Given the description of an element on the screen output the (x, y) to click on. 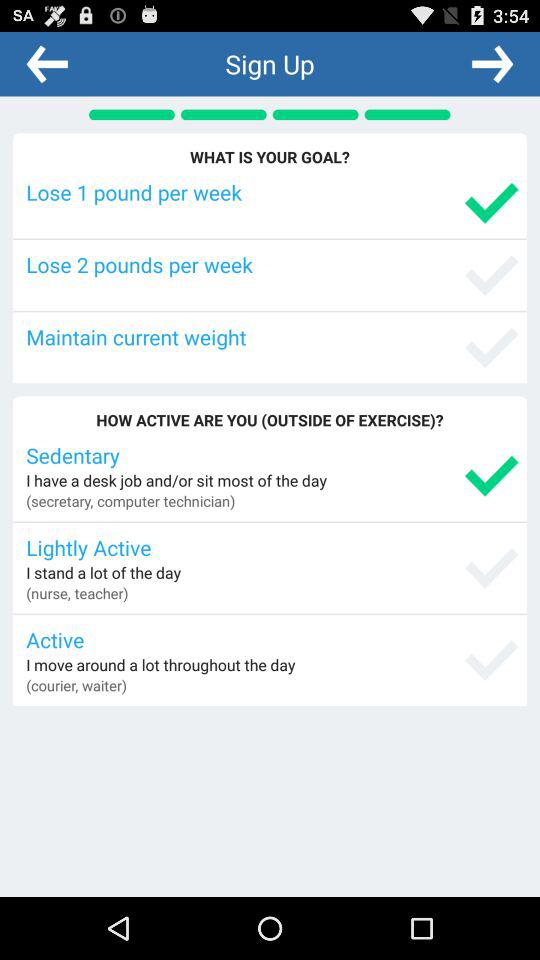
tap the icon to the left of sign up (47, 63)
